Given the description of an element on the screen output the (x, y) to click on. 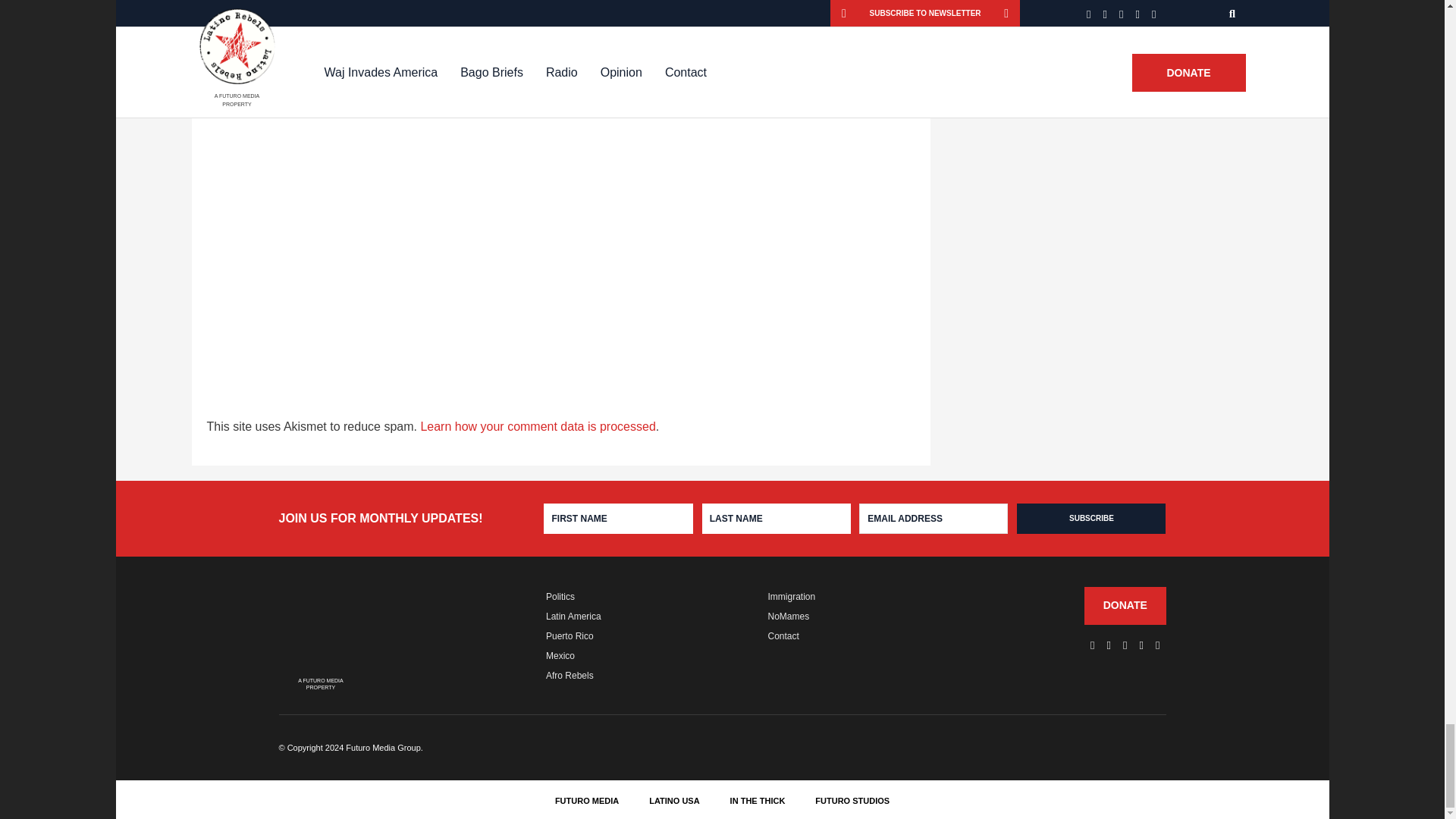
Subscribe (1091, 518)
